Given the description of an element on the screen output the (x, y) to click on. 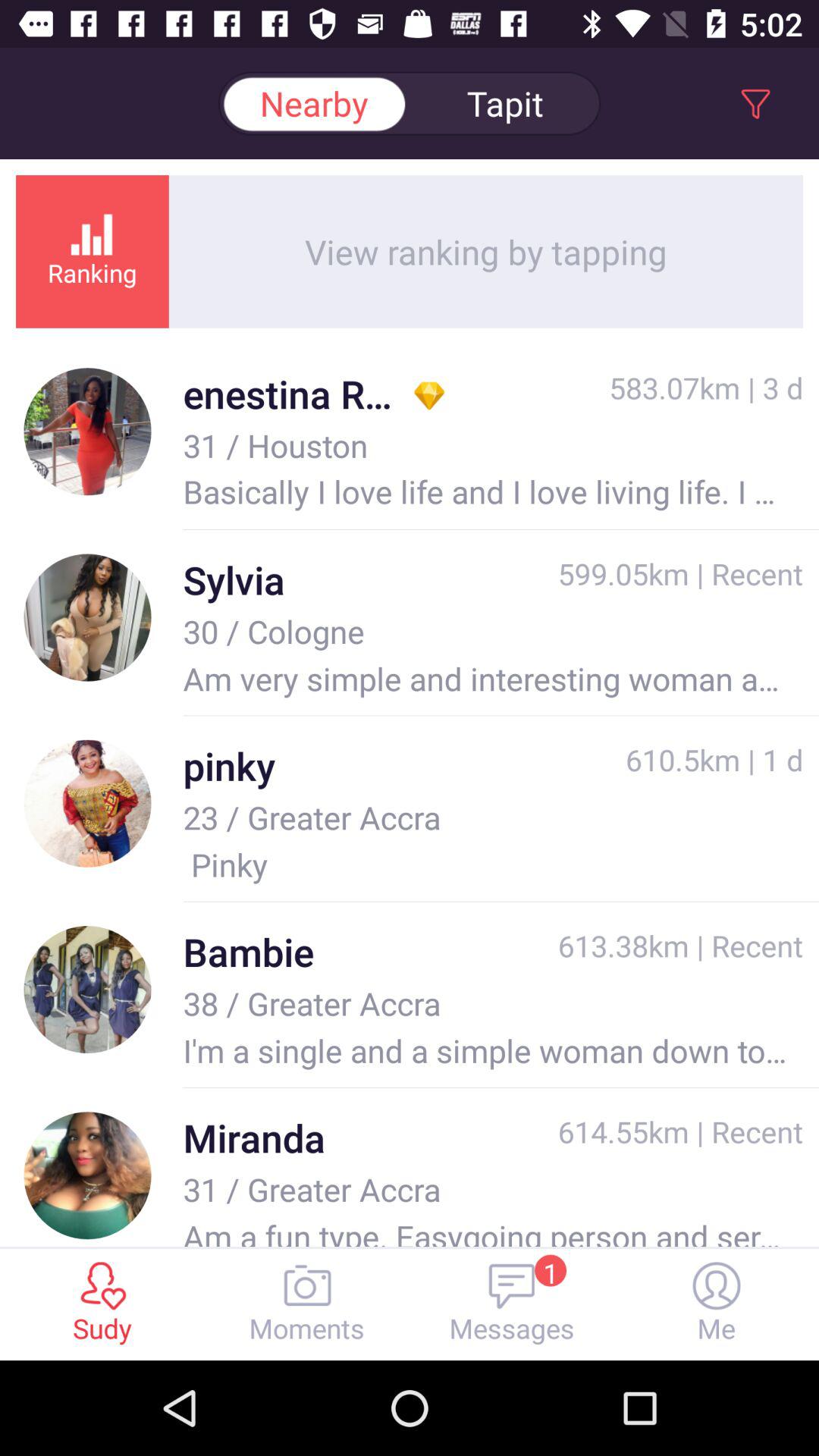
tap tapit (504, 103)
